Given the description of an element on the screen output the (x, y) to click on. 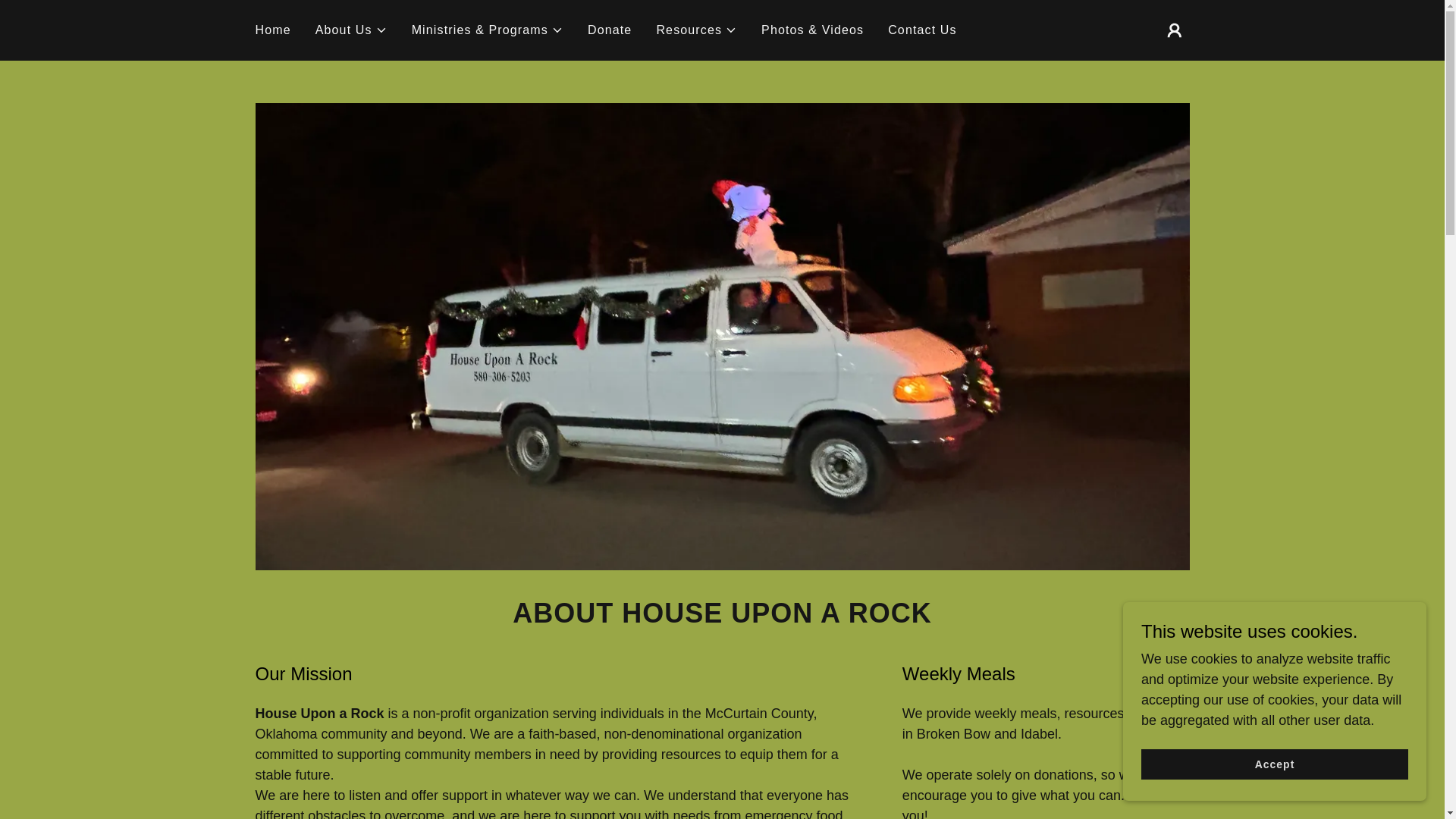
Donate (609, 30)
Resources (696, 30)
Home (272, 30)
About Us (351, 30)
Contact Us (921, 30)
